Given the description of an element on the screen output the (x, y) to click on. 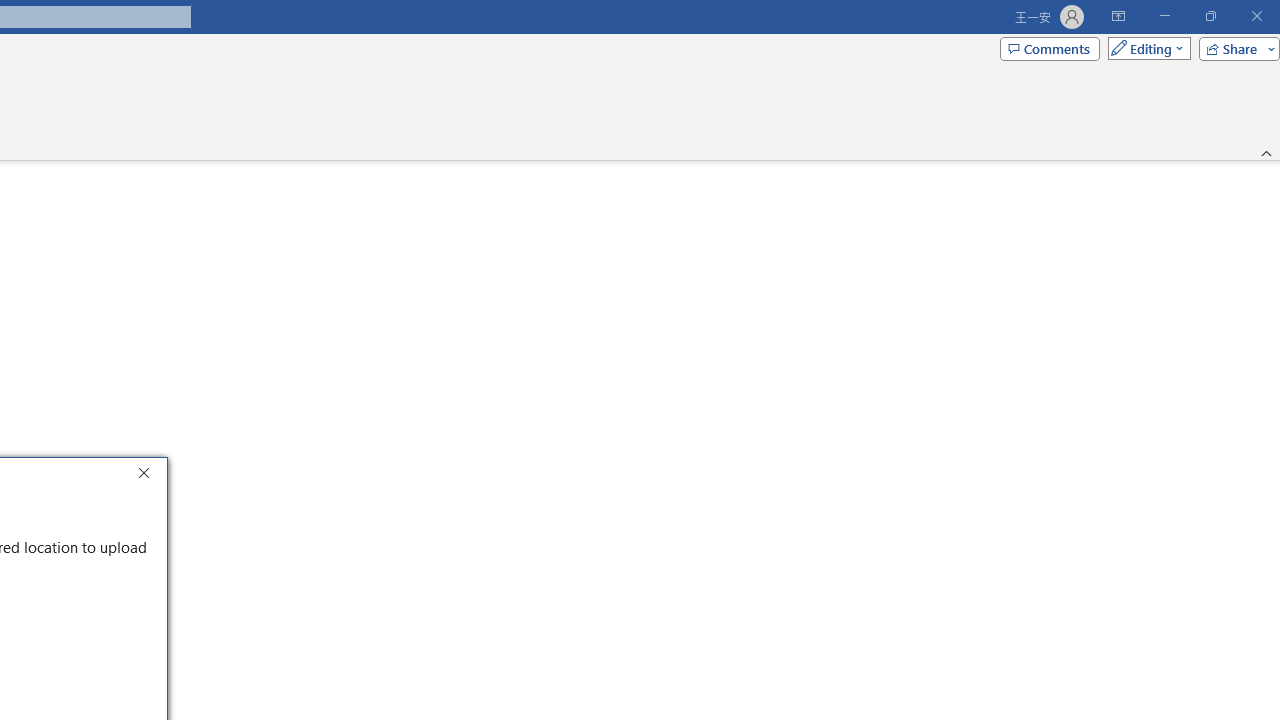
Minimize (1164, 16)
Collapse the Ribbon (1267, 152)
Close (148, 475)
Share (1235, 48)
Ribbon Display Options (1118, 16)
Restore Down (1210, 16)
Comments (1049, 48)
Editing (1144, 47)
